Given the description of an element on the screen output the (x, y) to click on. 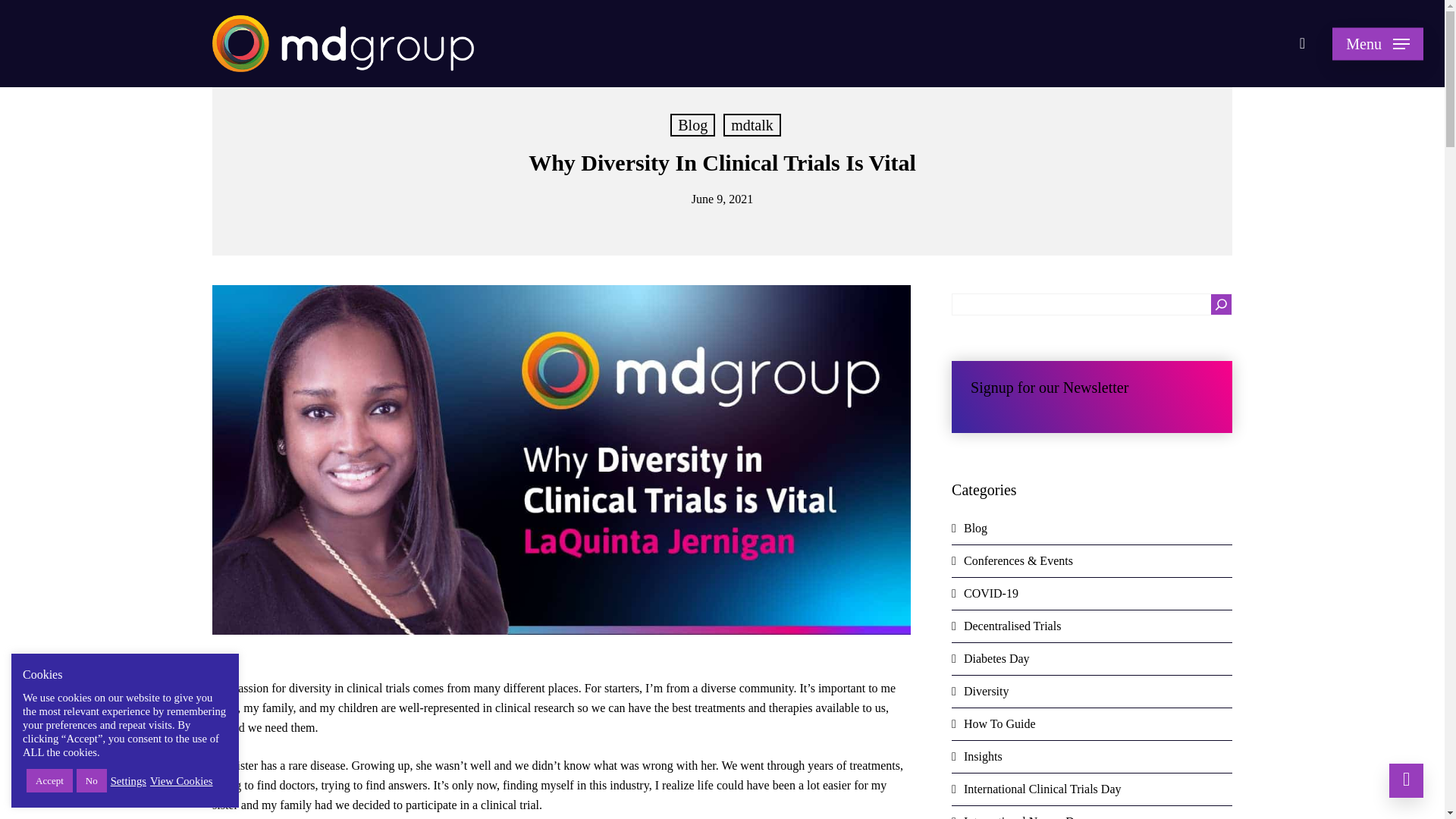
Diversity (1091, 691)
Insights (1091, 757)
Menu (1377, 43)
Blog (691, 124)
International Nurses Day (1091, 812)
search (1301, 43)
Diabetes Day (1091, 658)
International Clinical Trials Day (1091, 789)
Blog (1091, 528)
How To Guide (1091, 724)
